Given the description of an element on the screen output the (x, y) to click on. 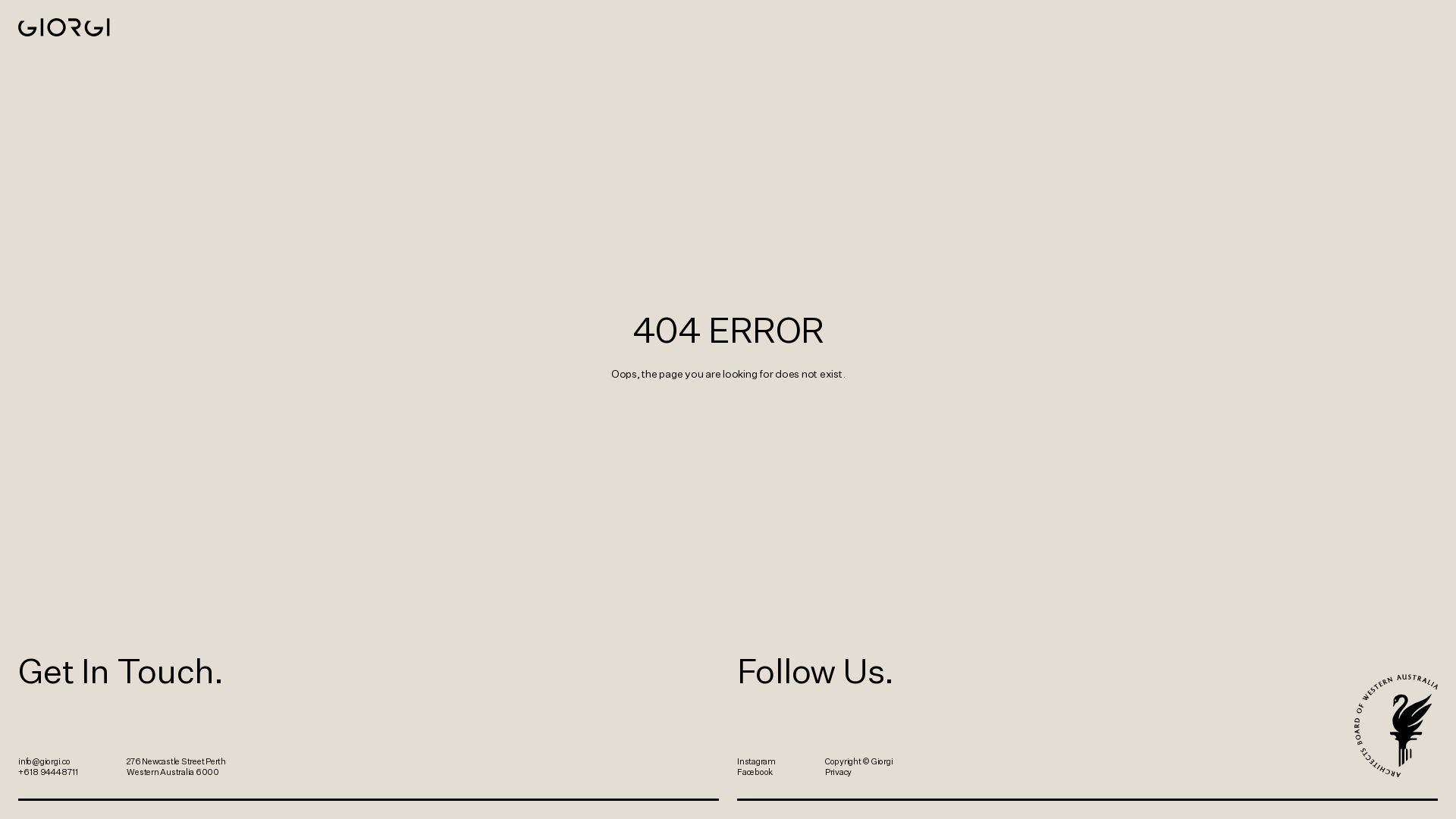
+61 8 9444 8711 Element type: text (47, 771)
276 Newcastle Street Perth Western Australia 6000 Element type: text (181, 766)
Instagram Element type: text (756, 760)
Privacy Element type: text (838, 771)
Facebook Element type: text (754, 771)
Giorgi Element type: hover (63, 27)
info@giorgi.co Element type: text (44, 760)
